Given the description of an element on the screen output the (x, y) to click on. 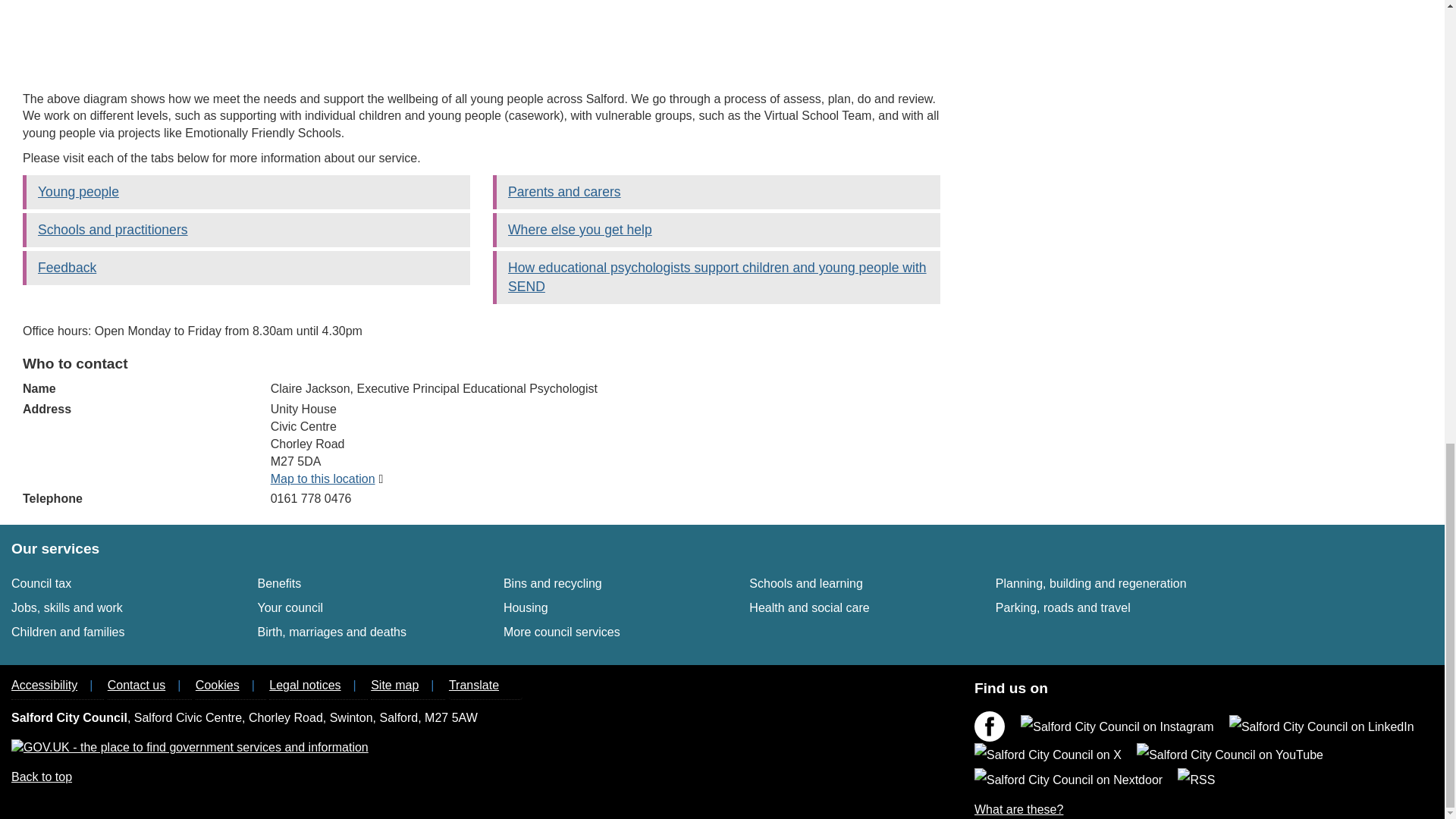
Feedback (66, 267)
Where else you get help (41, 583)
Map to this location (552, 583)
